Given the description of an element on the screen output the (x, y) to click on. 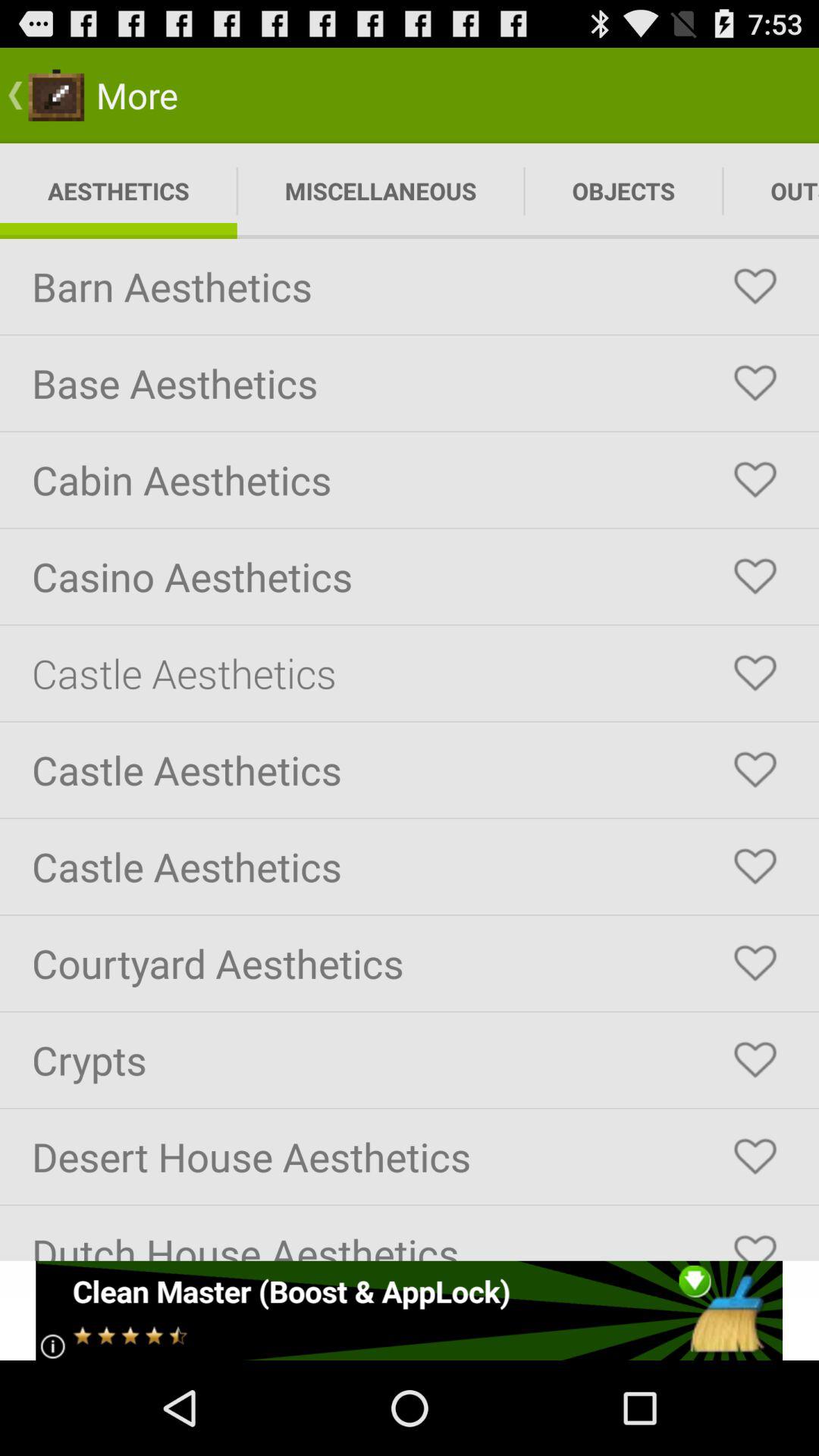
favorite (755, 673)
